Given the description of an element on the screen output the (x, y) to click on. 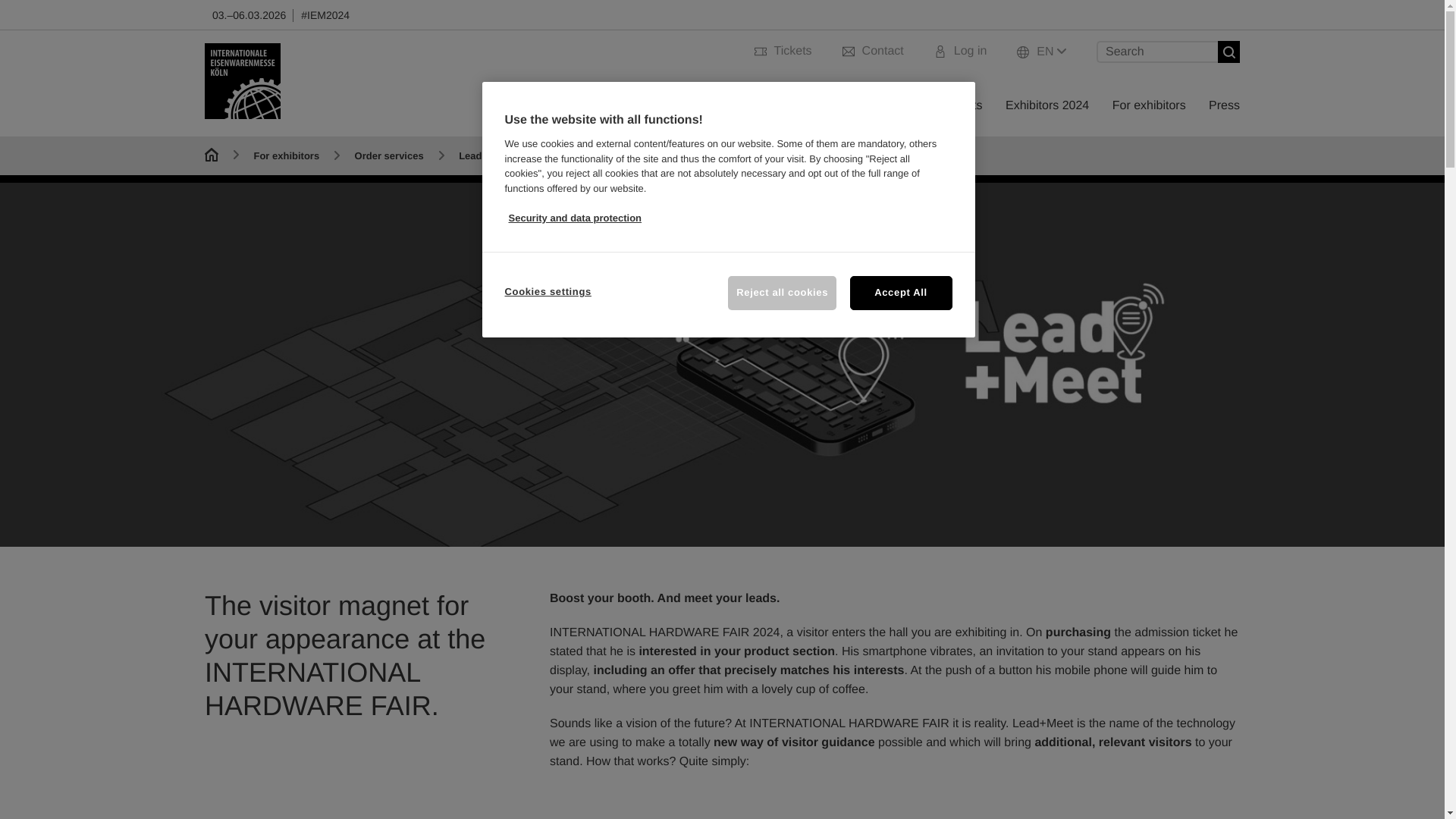
Press (1224, 105)
Contact (873, 55)
Events (963, 105)
Tickets (783, 55)
Language (1040, 51)
Contact (873, 55)
International Hardware Fair (243, 80)
Log in (960, 55)
Events (963, 105)
Log in (960, 55)
For exhibitors (1149, 105)
Exhibitors 2024 (1047, 105)
Press (1224, 105)
Trade fair (895, 105)
For exhibitors (1149, 105)
